Given the description of an element on the screen output the (x, y) to click on. 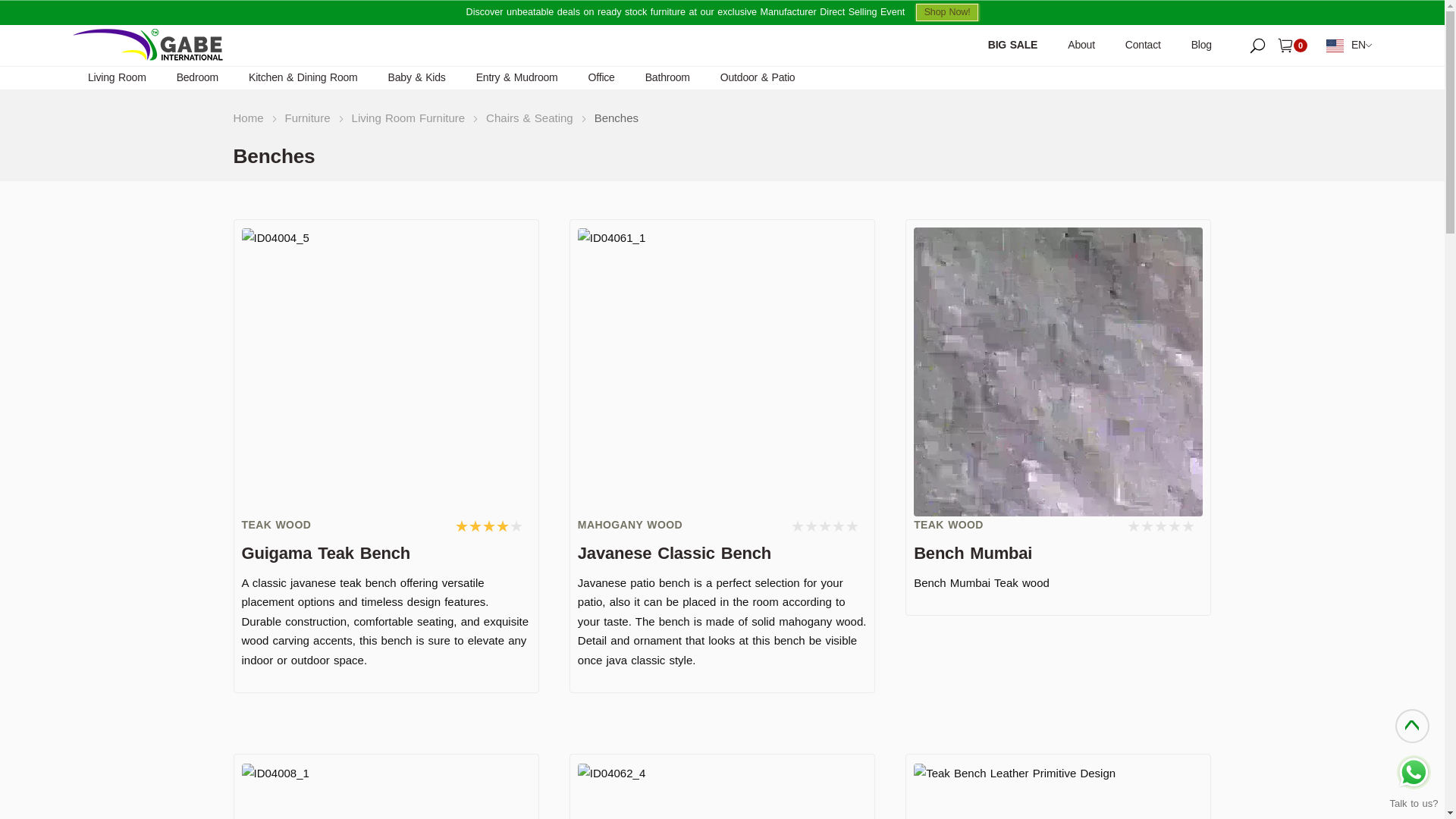
Find furniture (1257, 44)
en (1346, 45)
